Given the description of an element on the screen output the (x, y) to click on. 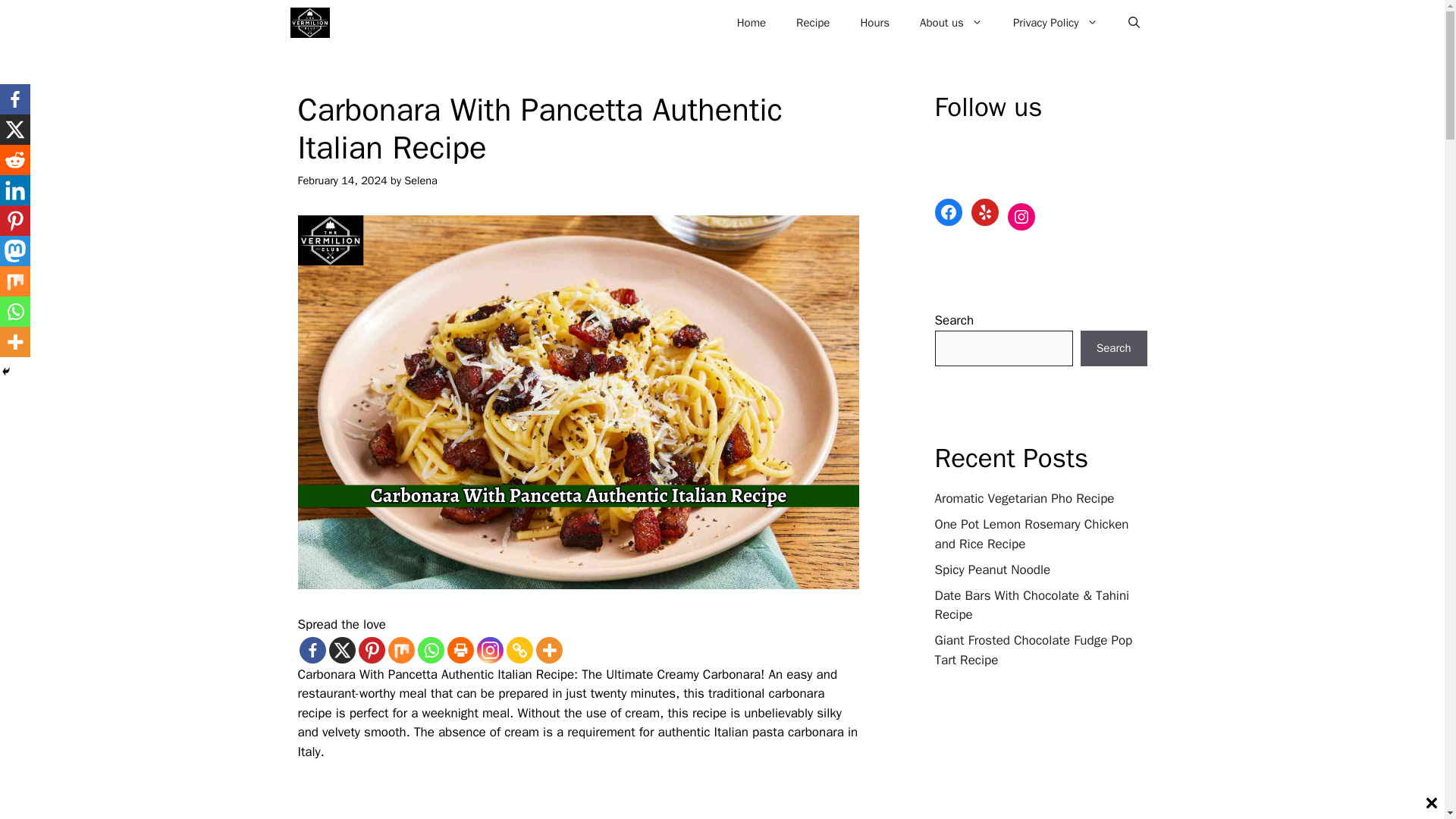
Print (460, 650)
Recipe (812, 22)
Whatsapp (430, 650)
Mix (401, 650)
Instagram (489, 650)
More (548, 650)
View all posts by Selena (421, 180)
Advertisement (585, 800)
Home (751, 22)
Selena (421, 180)
Facebook (311, 650)
Privacy Policy (1055, 22)
Copy Link (519, 650)
Pinterest (371, 650)
X (342, 650)
